Given the description of an element on the screen output the (x, y) to click on. 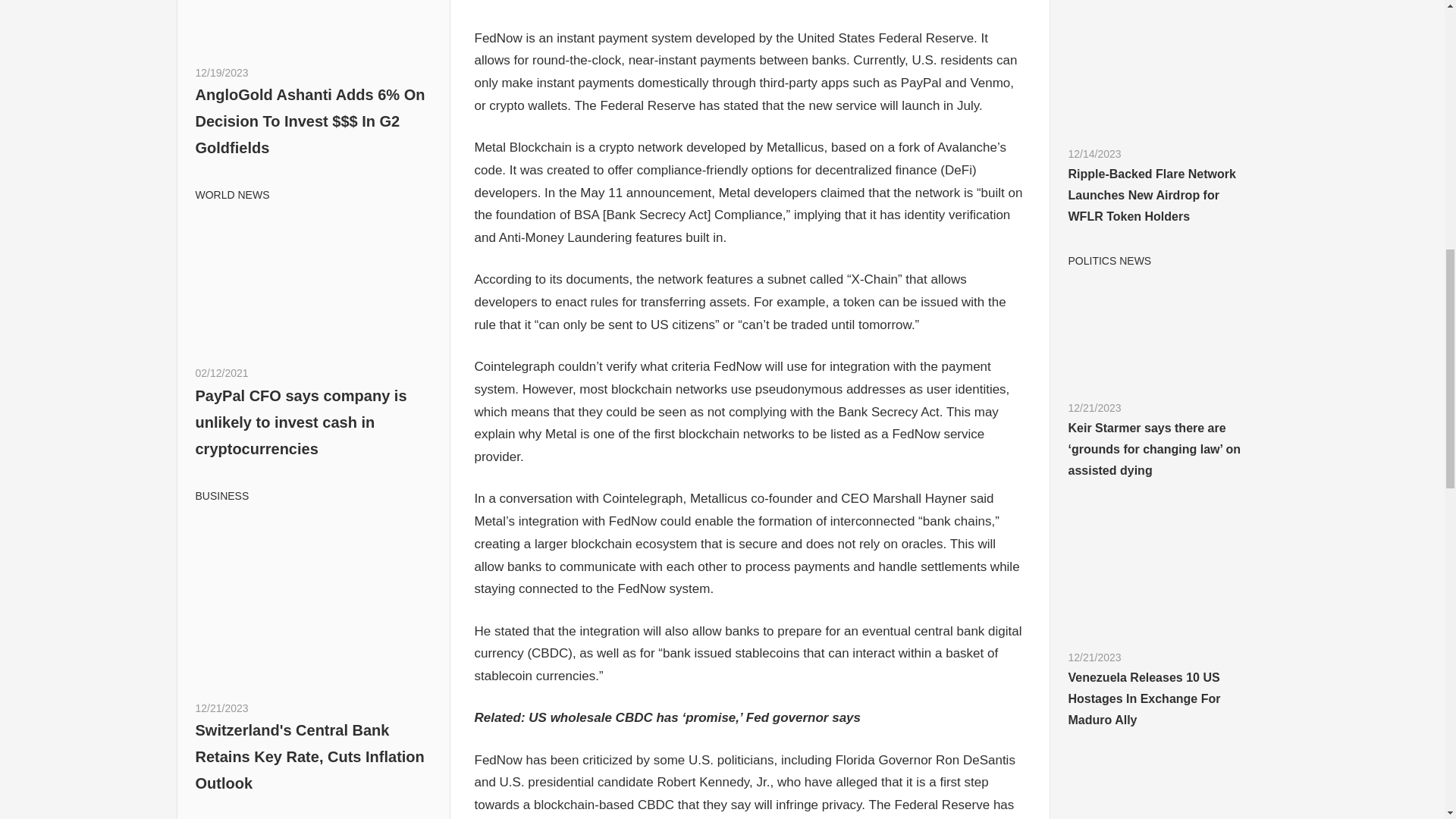
9:39 am (221, 707)
View all posts from category World (232, 194)
View all posts from category Business (221, 495)
5:38 pm (221, 72)
WORLD NEWS (232, 194)
2:34 am (221, 372)
